Given the description of an element on the screen output the (x, y) to click on. 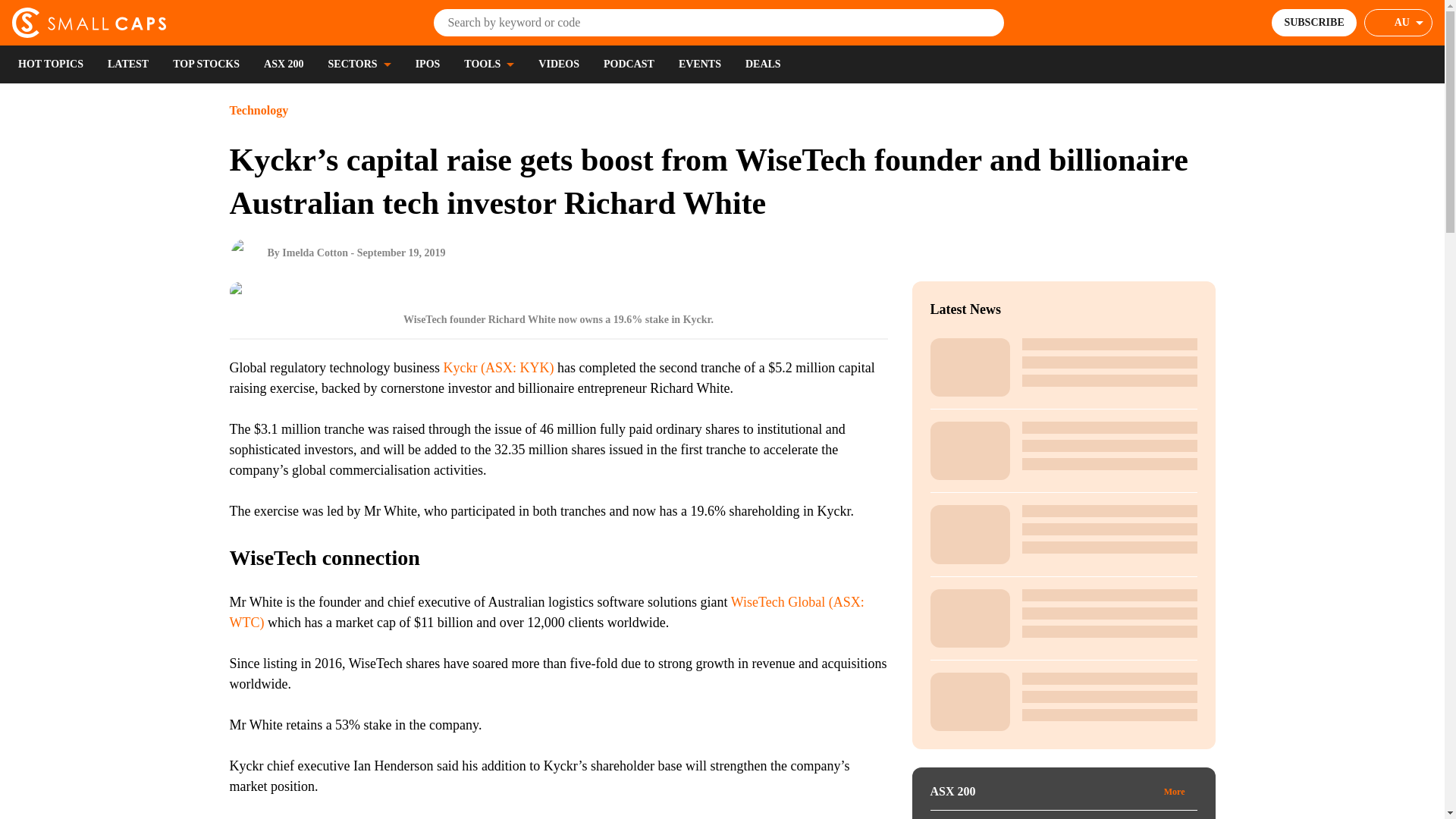
ASX 200 (283, 63)
SECTORS (360, 63)
SUBSCRIBE (1313, 22)
HOT TOPICS (49, 63)
TOOLS (488, 63)
AU (1398, 22)
Australia (1408, 22)
VIDEOS (558, 63)
TOP STOCKS (206, 63)
LATEST (127, 63)
